Given the description of an element on the screen output the (x, y) to click on. 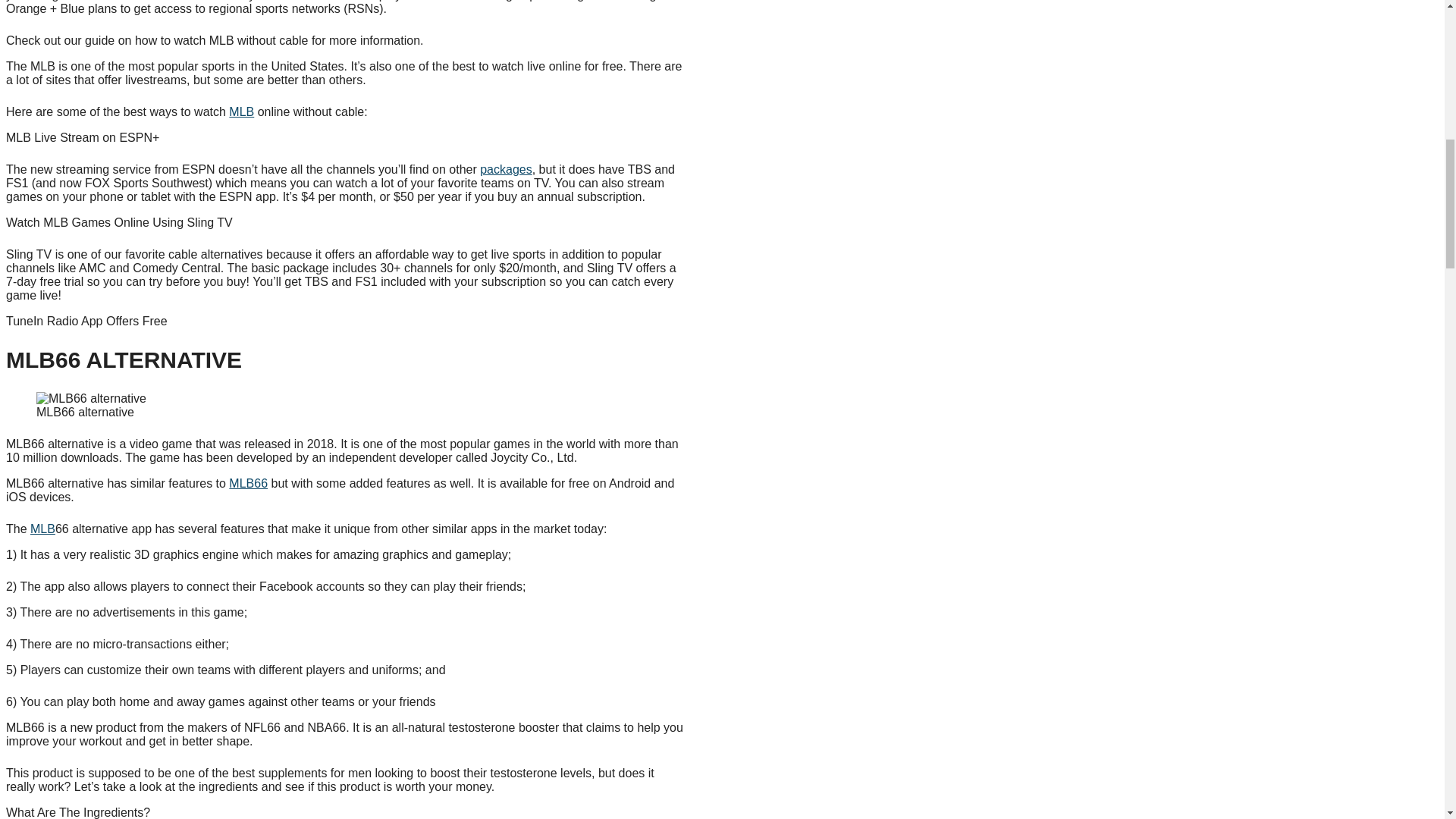
MLB (240, 111)
MLB (42, 528)
packages (506, 169)
MLB66 (247, 482)
